Given the description of an element on the screen output the (x, y) to click on. 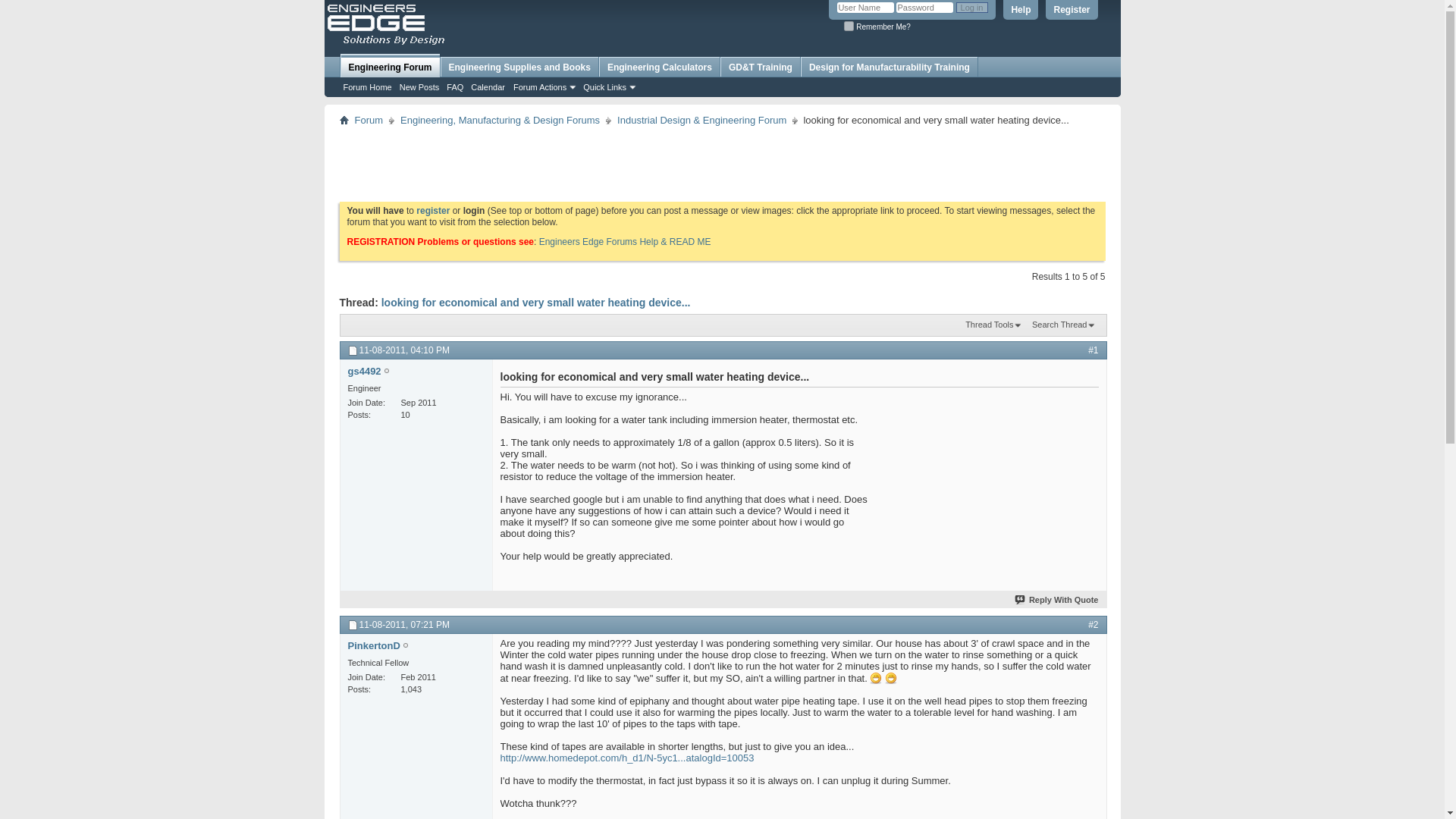
FAQ (454, 87)
Engineering Supplies and Books (519, 66)
Engineering Forum (389, 65)
Forum Actions (543, 87)
PinkertonD (372, 645)
Engineering Calculators (658, 66)
Engineers Edge (386, 24)
Forum (368, 120)
gs4492 is offline (386, 371)
PinkertonD is offline (372, 645)
Home (344, 119)
Forum Home (367, 87)
PinkertonD is offline (405, 645)
gs4492 (363, 370)
